Given the description of an element on the screen output the (x, y) to click on. 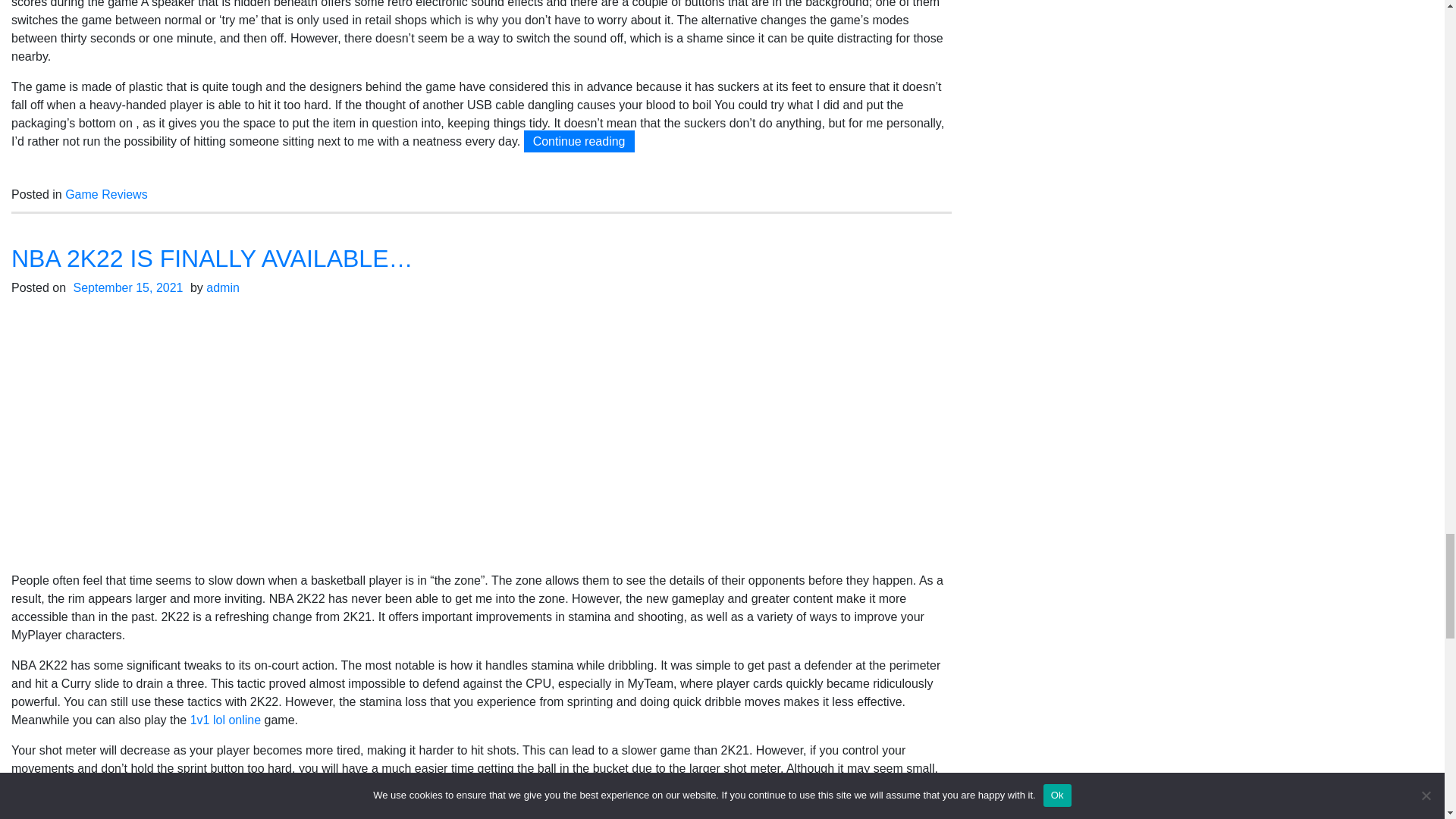
YouTube video player (481, 428)
